Given the description of an element on the screen output the (x, y) to click on. 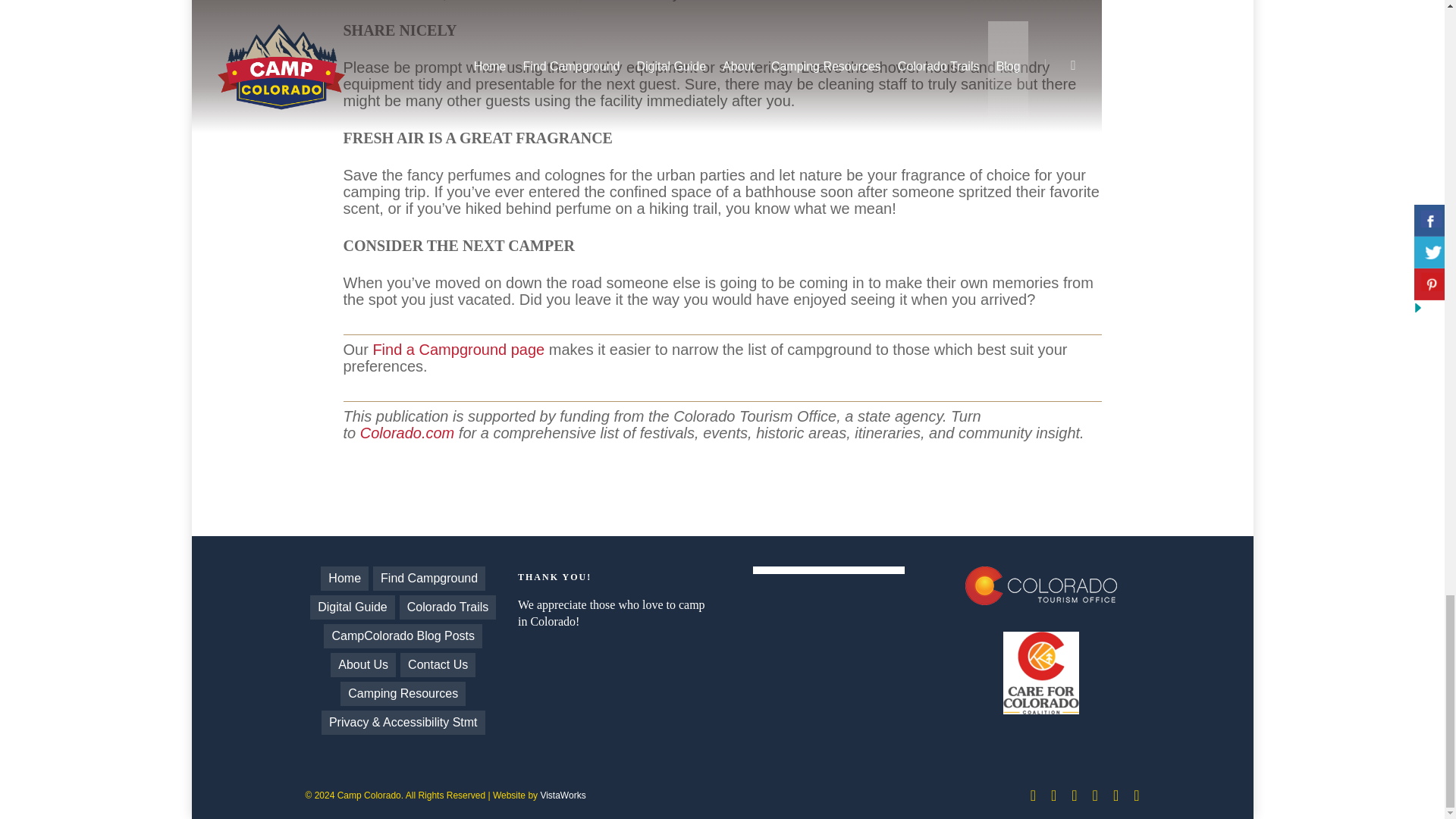
Find a Campground page (458, 349)
Digital Guide (352, 607)
Colorado.com (406, 433)
CampColorado Blog Posts (402, 636)
Home (344, 578)
About Us (363, 664)
Find Campground (428, 578)
VistaWorks (562, 795)
Colorado Trails (447, 607)
Camping Resources (402, 693)
Contact Us (438, 664)
